Given the description of an element on the screen output the (x, y) to click on. 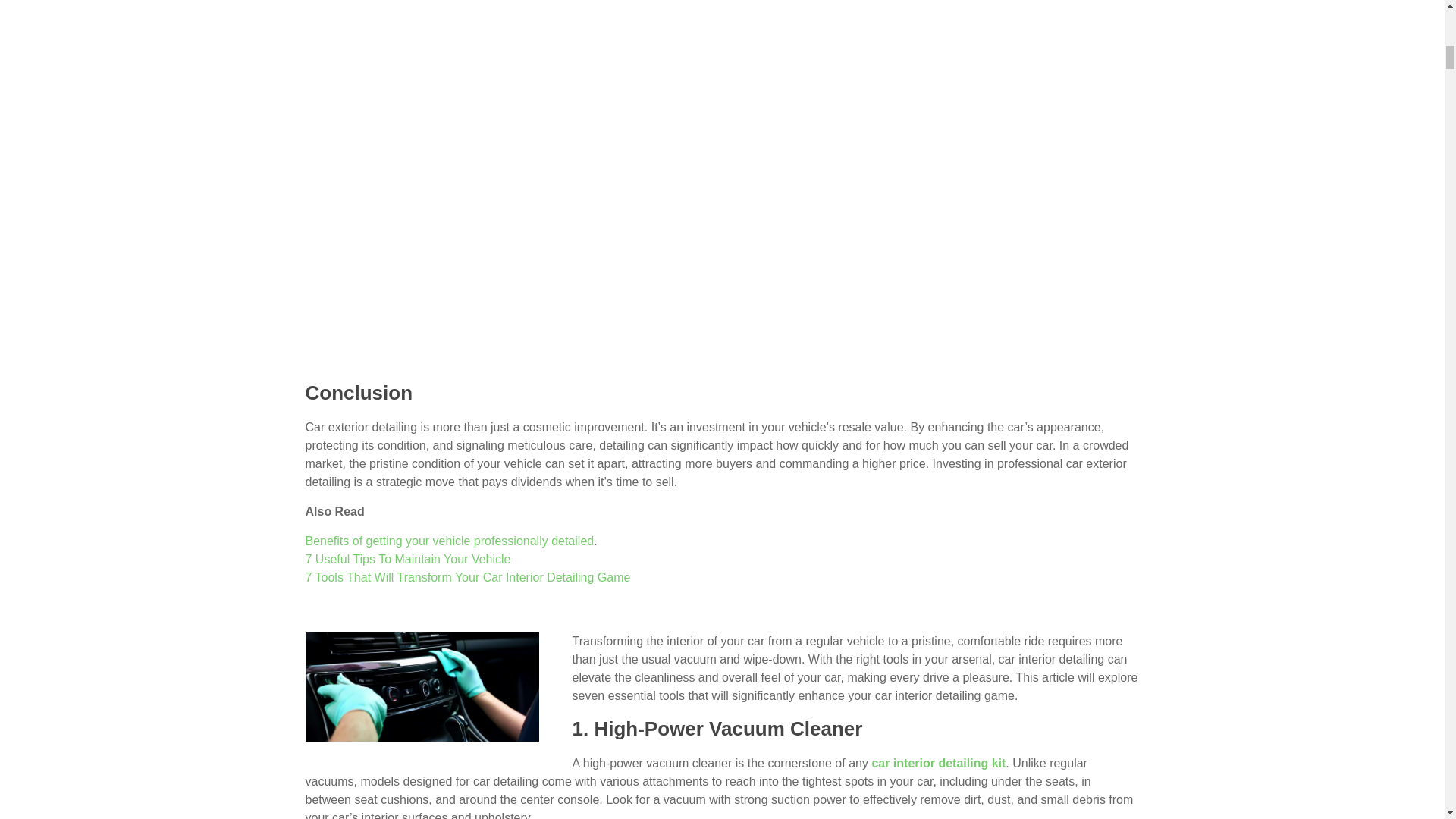
Benefits of getting your vehicle professionally detailed (449, 540)
car interior detailing kit (938, 762)
7 Tools That Will Transform Your Car Interior Detailing Game (467, 576)
7 Tools That Will Transform Your Car Interior Detailing Game (421, 687)
7 Tools That Will Transform Your Car Interior Detailing Game (421, 639)
7 Useful Tips To Maintain Your Vehicle (407, 558)
